Given the description of an element on the screen output the (x, y) to click on. 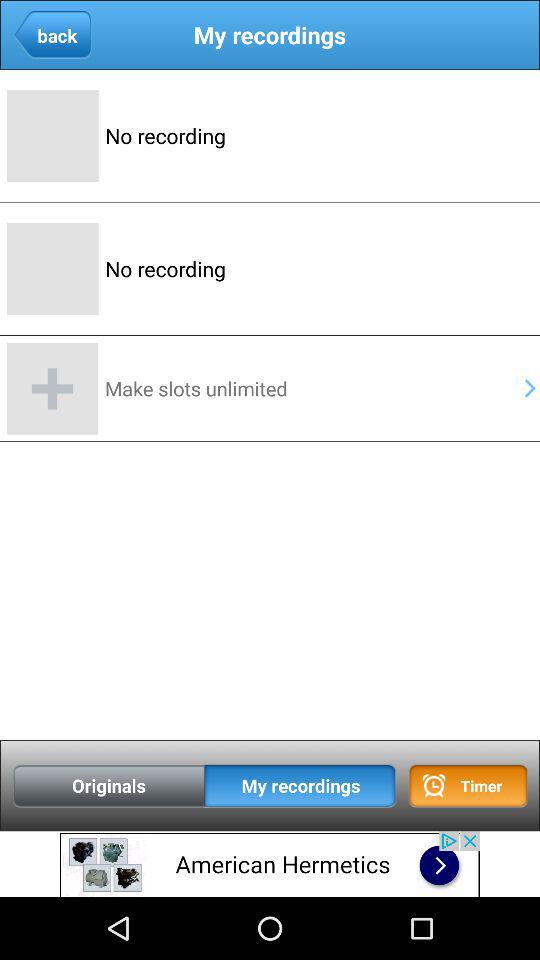
find out more (270, 864)
